Given the description of an element on the screen output the (x, y) to click on. 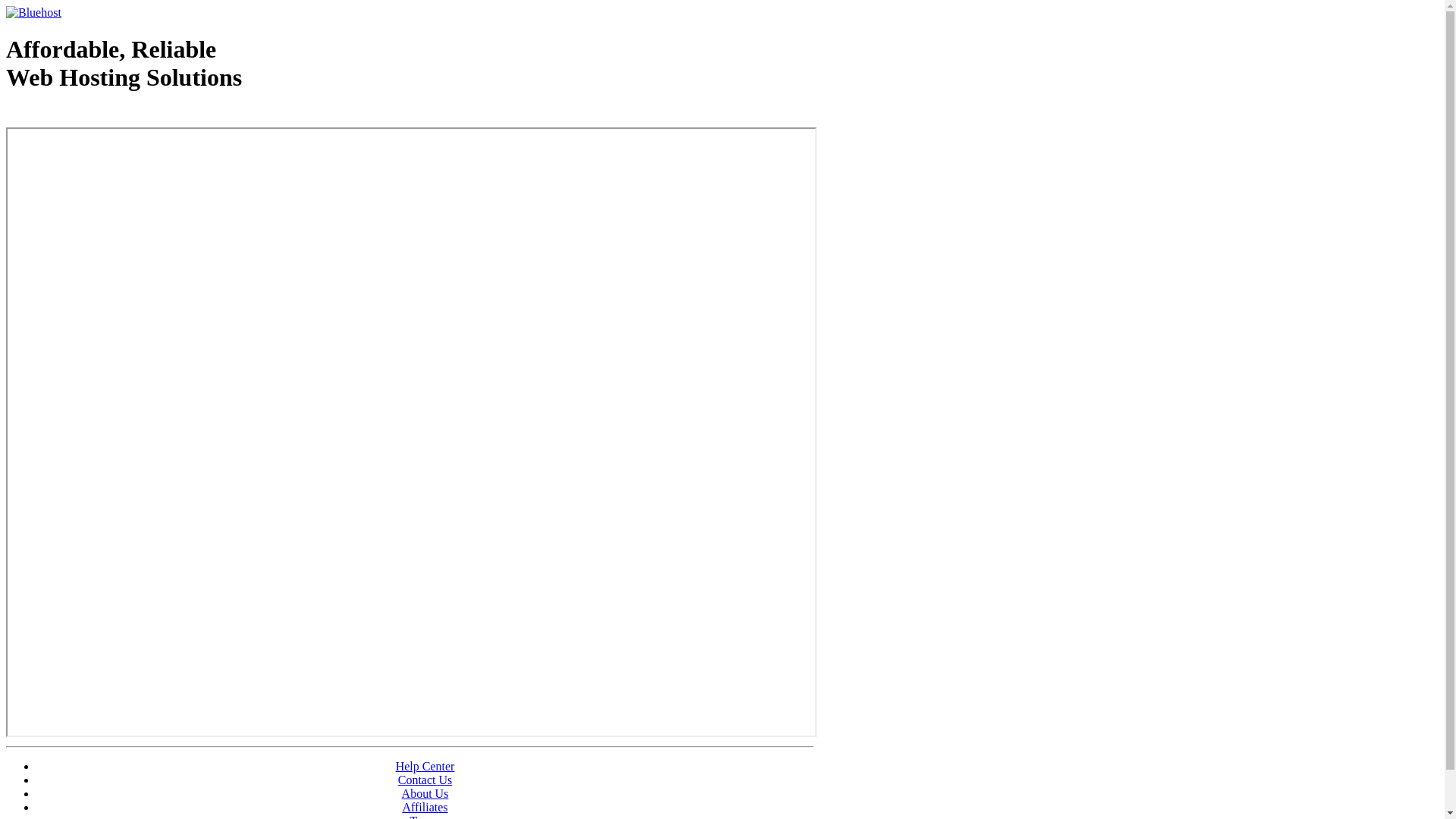
Contact Us Element type: text (425, 779)
Affiliates Element type: text (424, 806)
Help Center Element type: text (425, 765)
About Us Element type: text (424, 793)
Web Hosting - courtesy of www.bluehost.com Element type: text (94, 115)
